Given the description of an element on the screen output the (x, y) to click on. 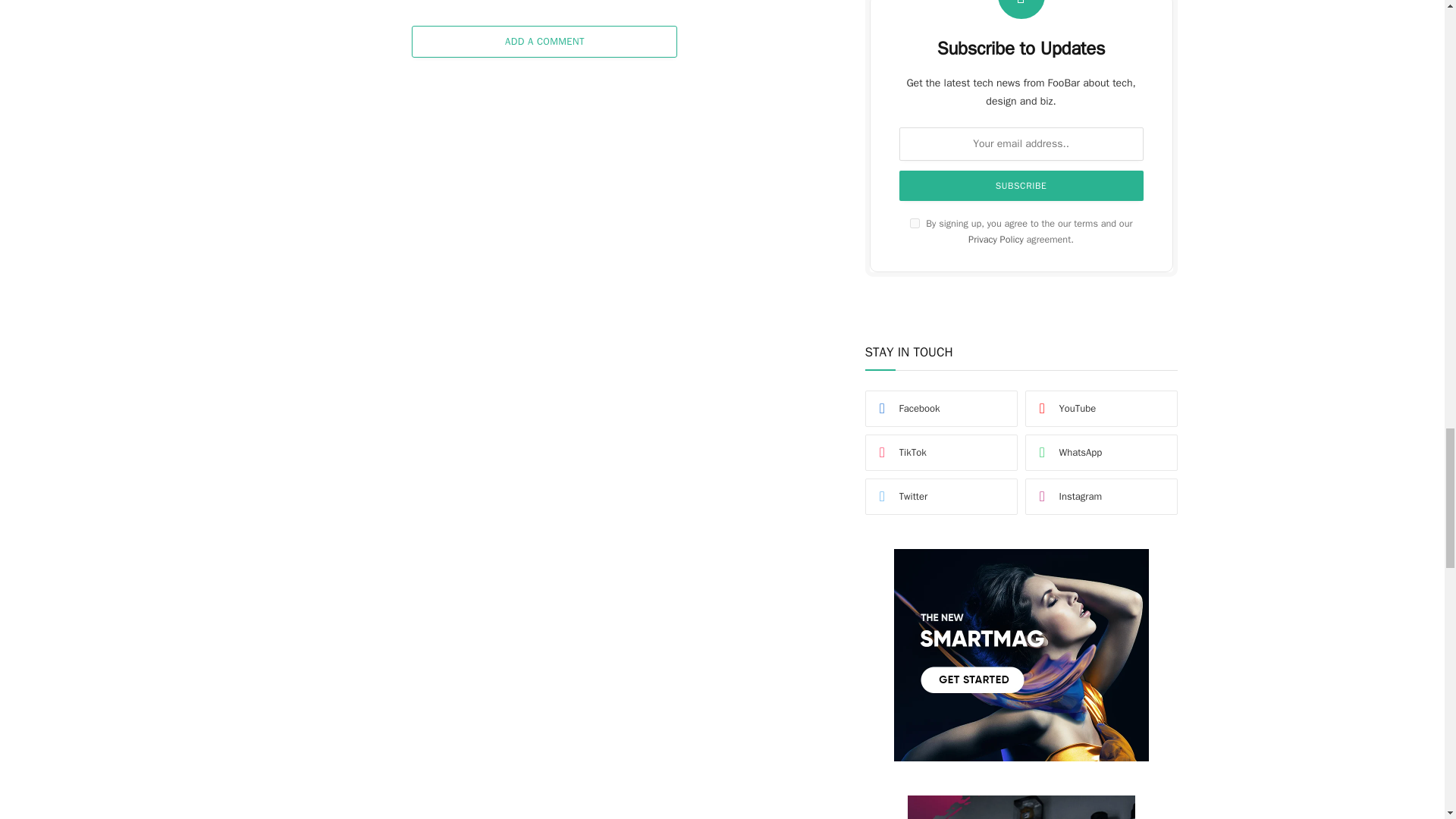
Subscribe (1020, 185)
on (915, 223)
